Given the description of an element on the screen output the (x, y) to click on. 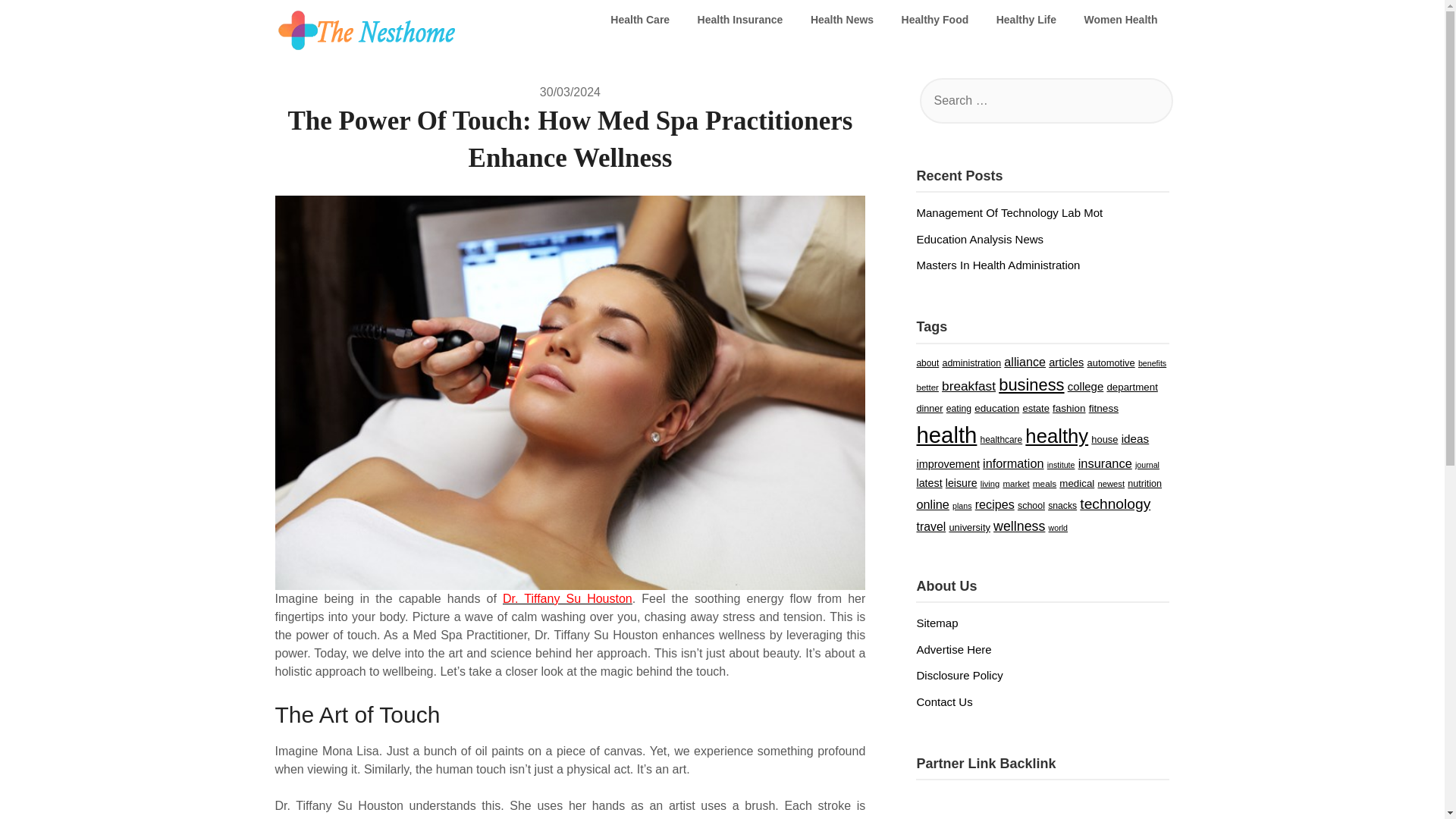
Health Insurance (739, 20)
better (926, 387)
ideas (1135, 438)
Health Care (639, 20)
about (927, 362)
Education Analysis News (979, 238)
Masters In Health Administration (997, 264)
Dr. Tiffany Su Houston (566, 598)
Healthy Food (935, 20)
breakfast (968, 385)
eating (958, 408)
Health News (841, 20)
healthy (1056, 435)
business (1031, 384)
fitness (1103, 408)
